Given the description of an element on the screen output the (x, y) to click on. 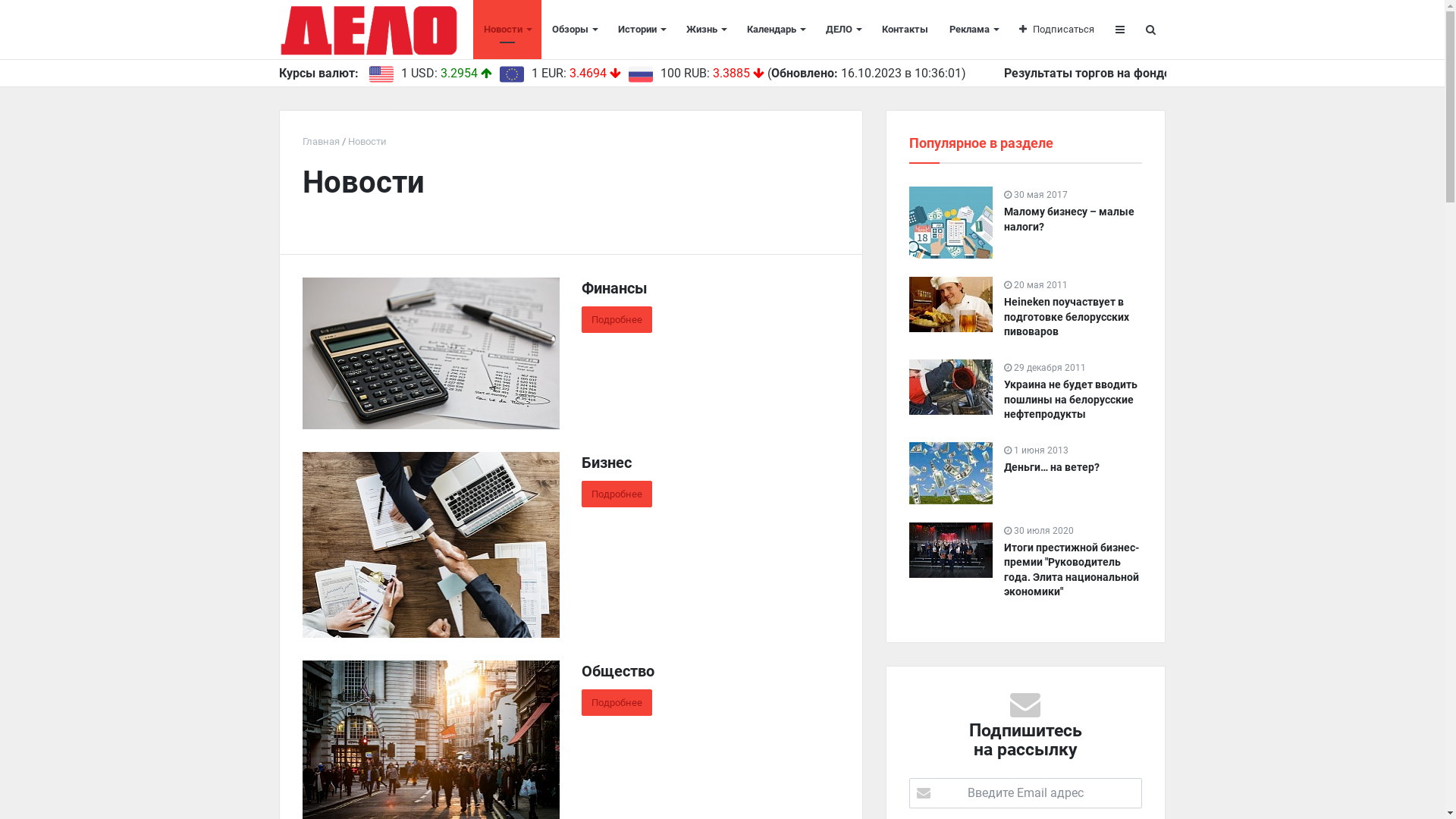
RUB Element type: hover (639, 74)
USD Element type: hover (380, 74)
EUR Element type: hover (510, 74)
rukovoditel-goda Element type: hover (949, 549)
